Given the description of an element on the screen output the (x, y) to click on. 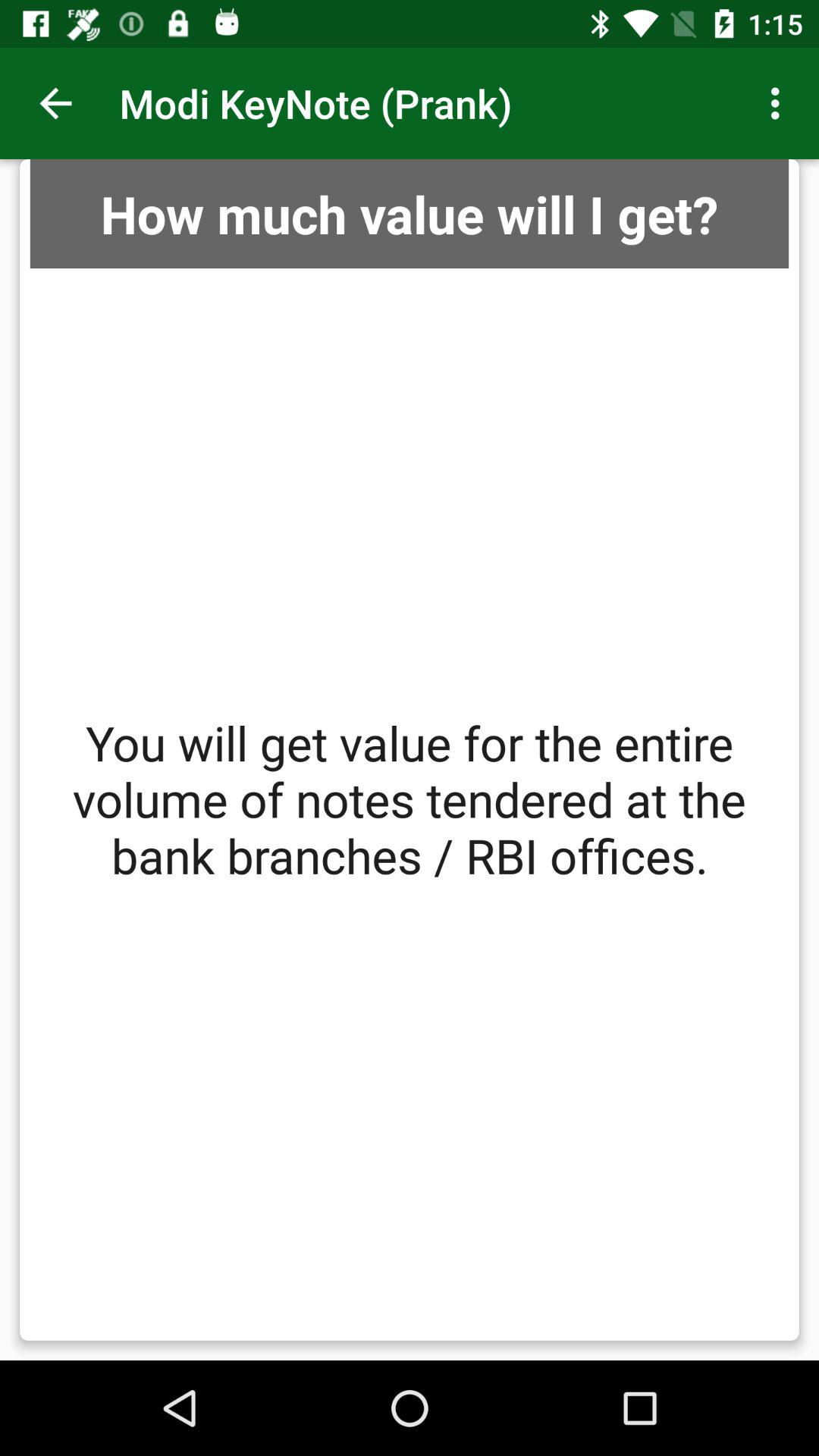
tap the item at the top left corner (55, 103)
